Given the description of an element on the screen output the (x, y) to click on. 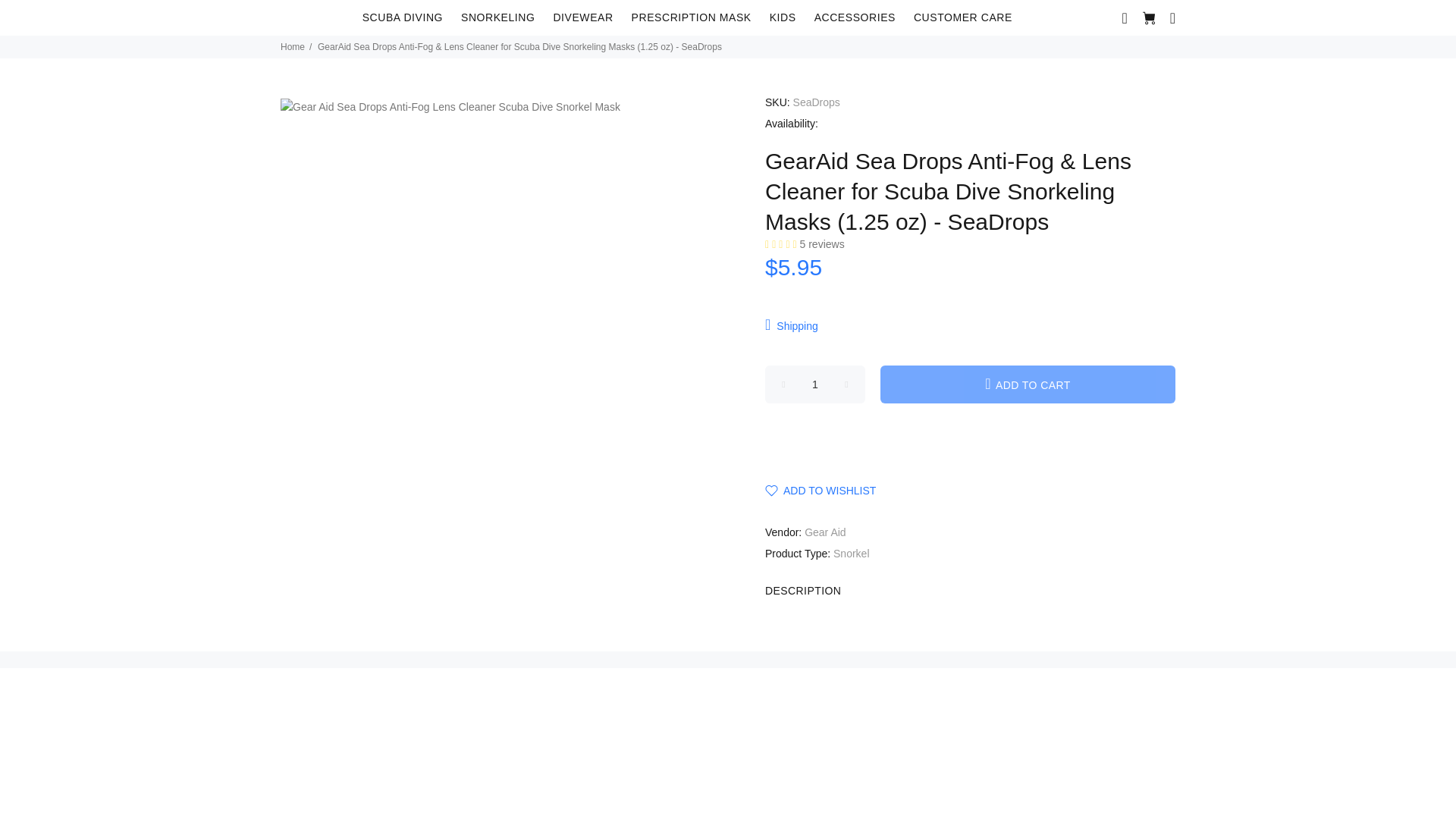
1 (814, 384)
